Given the description of an element on the screen output the (x, y) to click on. 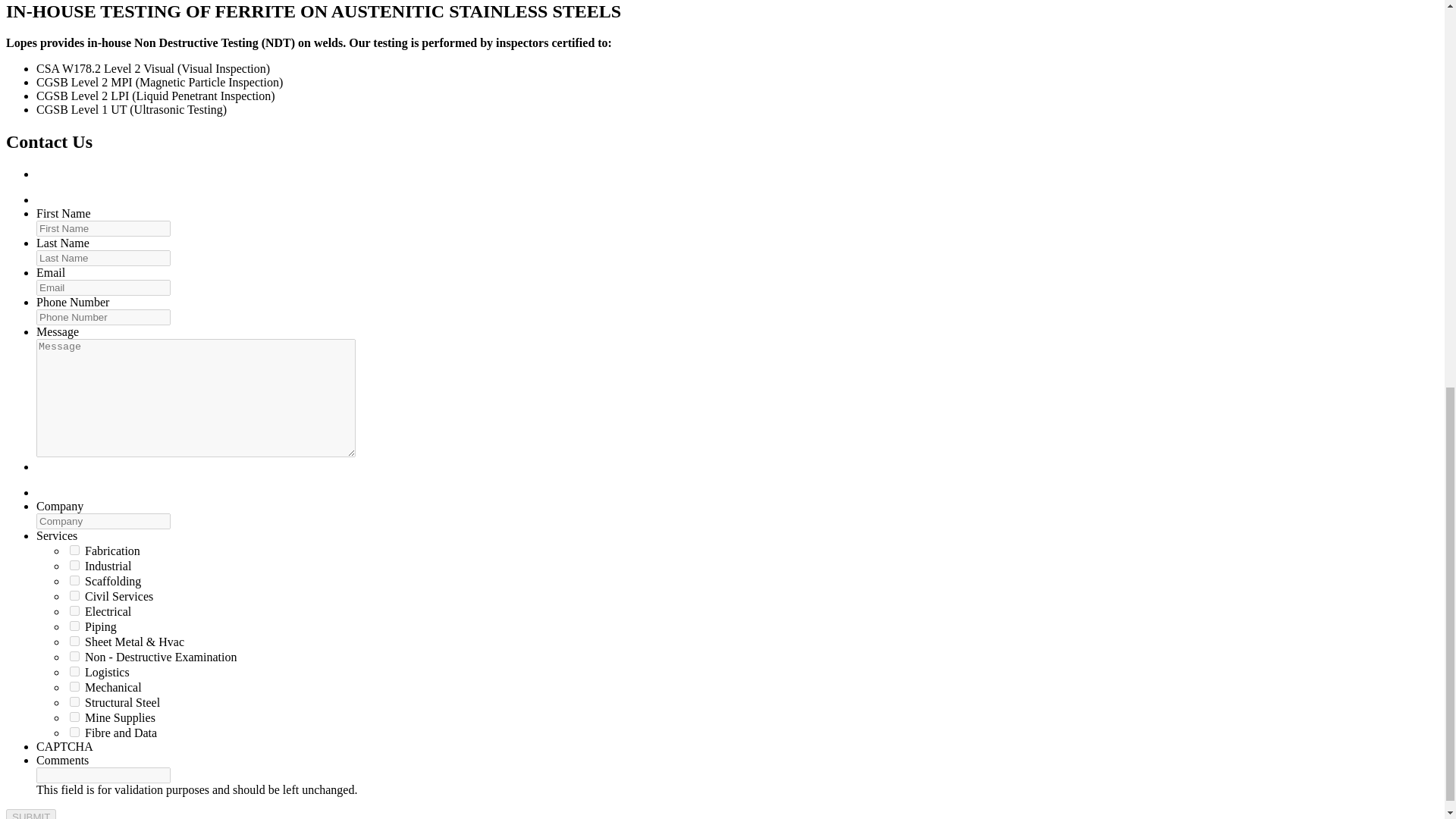
Scaffolding (74, 580)
Fibre and Data (74, 732)
Industrial (74, 565)
Civil Services (74, 595)
Mechanical (74, 686)
Logistics (74, 671)
Non - Destructive Examination (74, 655)
Piping (74, 625)
Mine Supplies (74, 716)
Electrical (74, 610)
Fabrication (74, 550)
Structural Steel (74, 701)
